Given the description of an element on the screen output the (x, y) to click on. 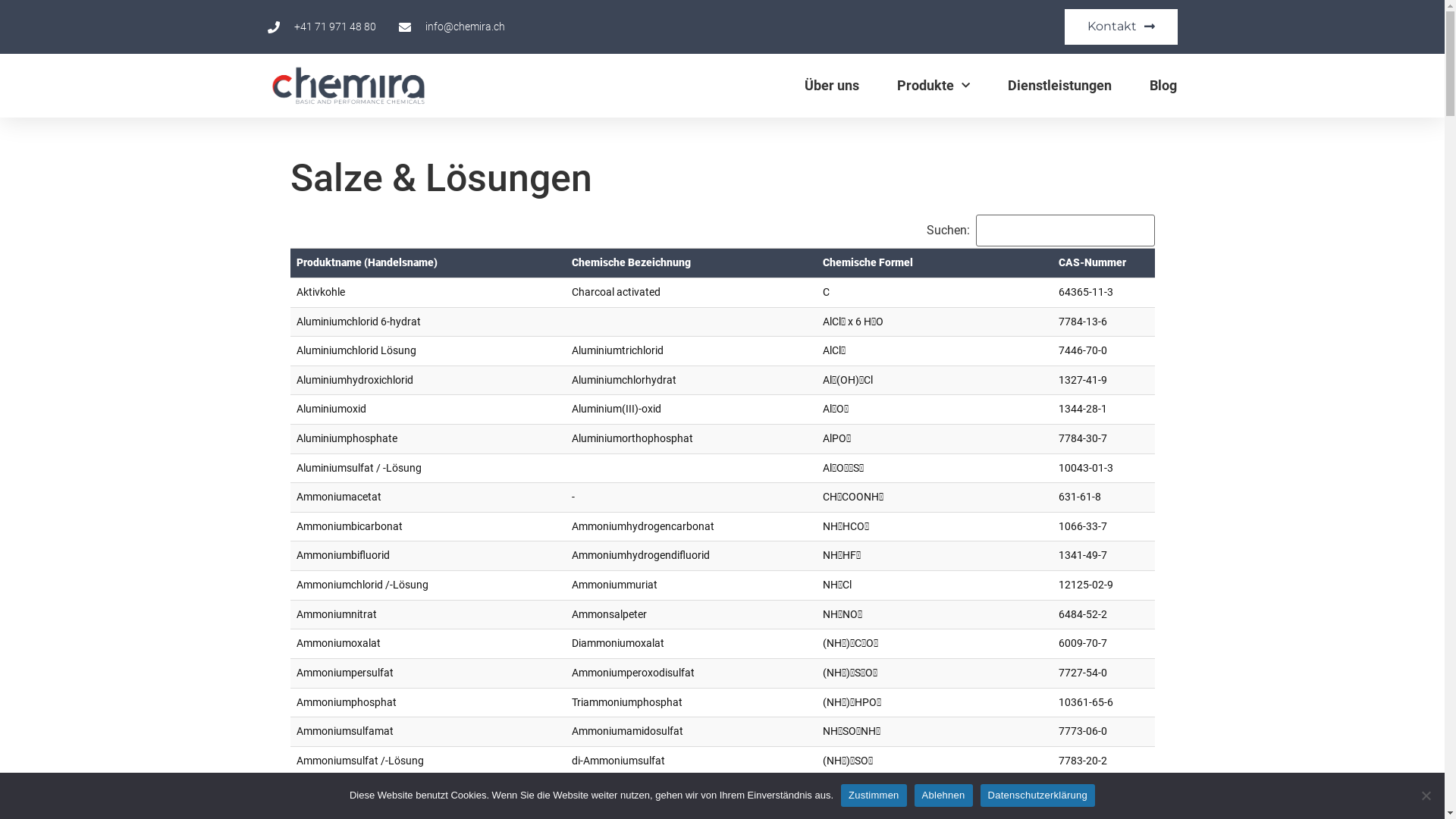
Zustimmen Element type: text (873, 795)
Blog Element type: text (1162, 85)
Dienstleistungen Element type: text (1059, 85)
Produkte Element type: text (933, 85)
info@chemira.ch Element type: text (451, 26)
Kontakt Element type: text (1120, 26)
+41 71 971 48 80 Element type: text (320, 26)
Ablehnen Element type: text (943, 795)
Ablehnen Element type: hover (1425, 795)
